Given the description of an element on the screen output the (x, y) to click on. 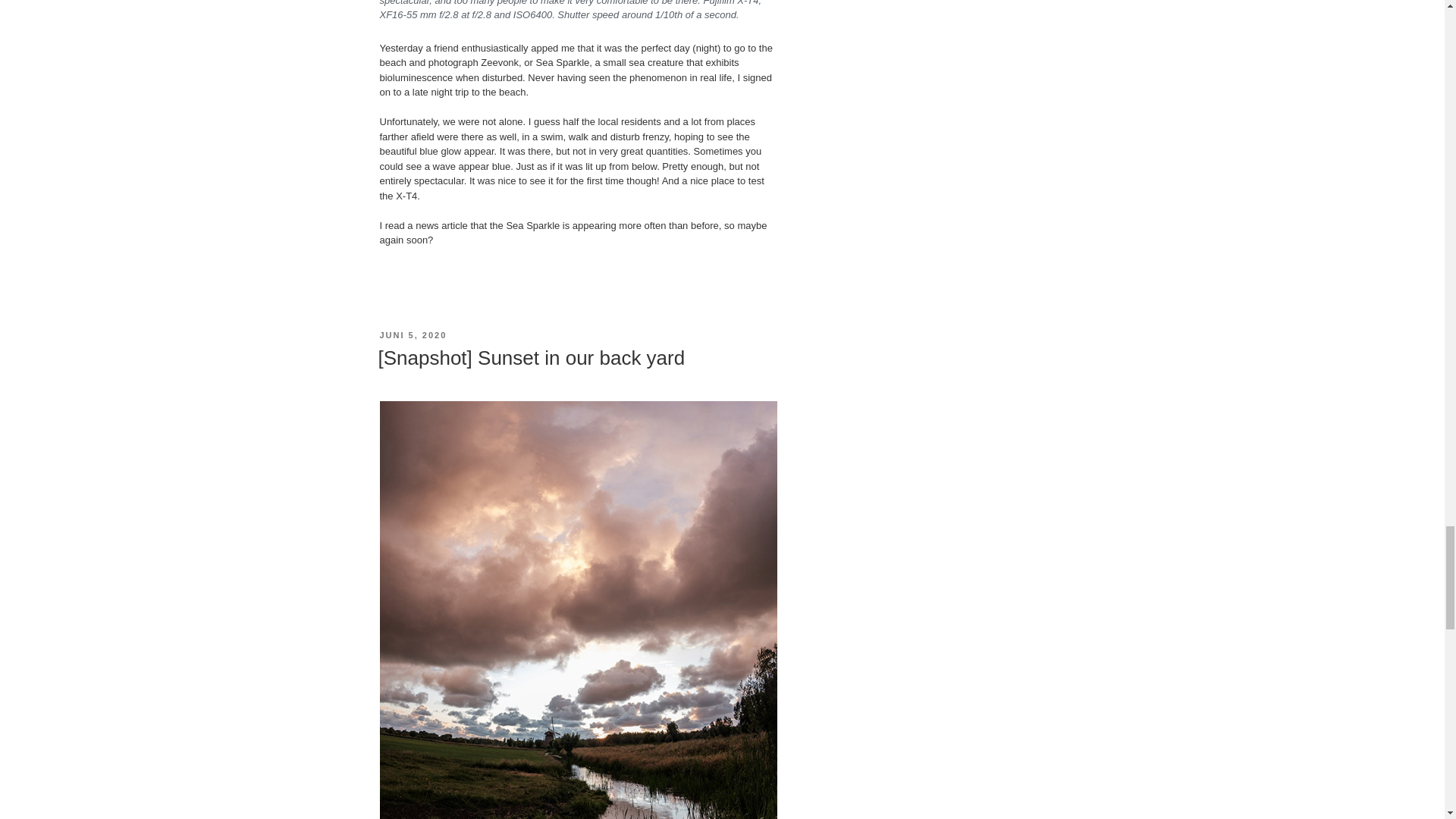
JUNI 5, 2020 (412, 334)
